Given the description of an element on the screen output the (x, y) to click on. 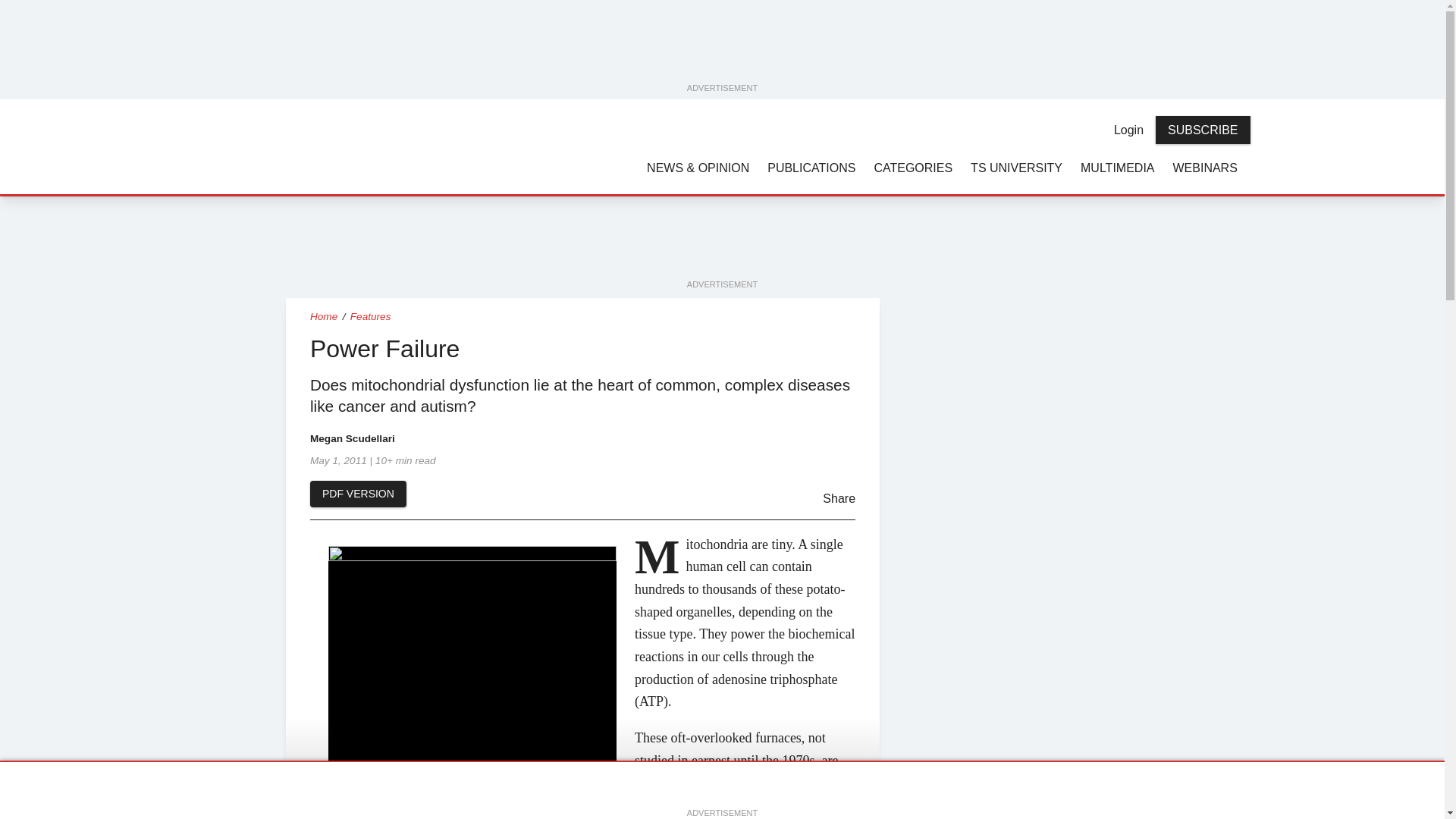
Login (1127, 130)
TS UNIVERSITY (1015, 167)
SUBSCRIBE (1202, 130)
CATEGORIES (912, 167)
